Given the description of an element on the screen output the (x, y) to click on. 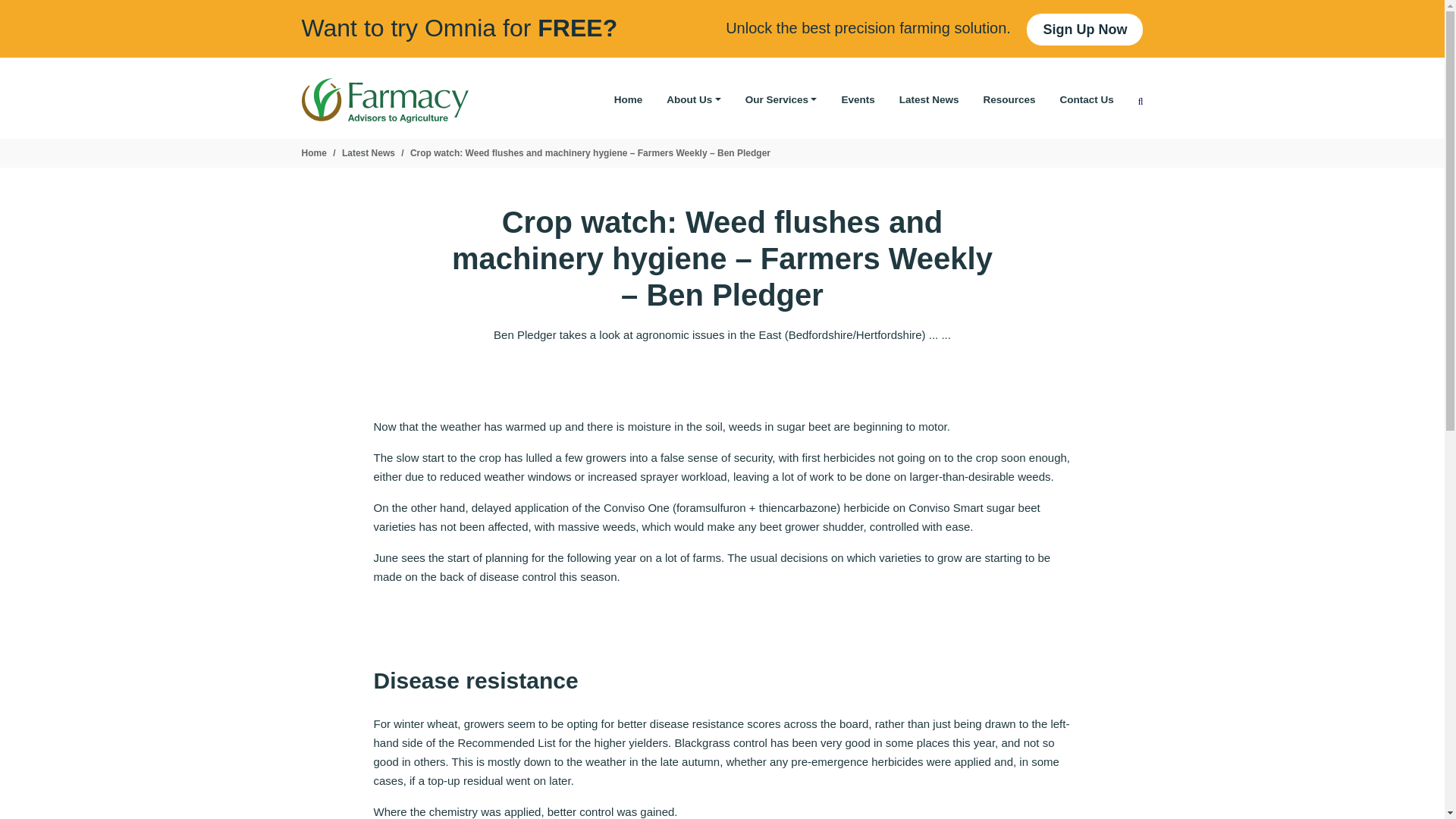
Our Services (781, 99)
Home (628, 99)
Home (313, 153)
Events (857, 99)
Resources (1008, 99)
Latest News (368, 153)
Latest News (928, 99)
About Us (692, 99)
Our Services (781, 99)
Sign Up Now (1084, 29)
